Given the description of an element on the screen output the (x, y) to click on. 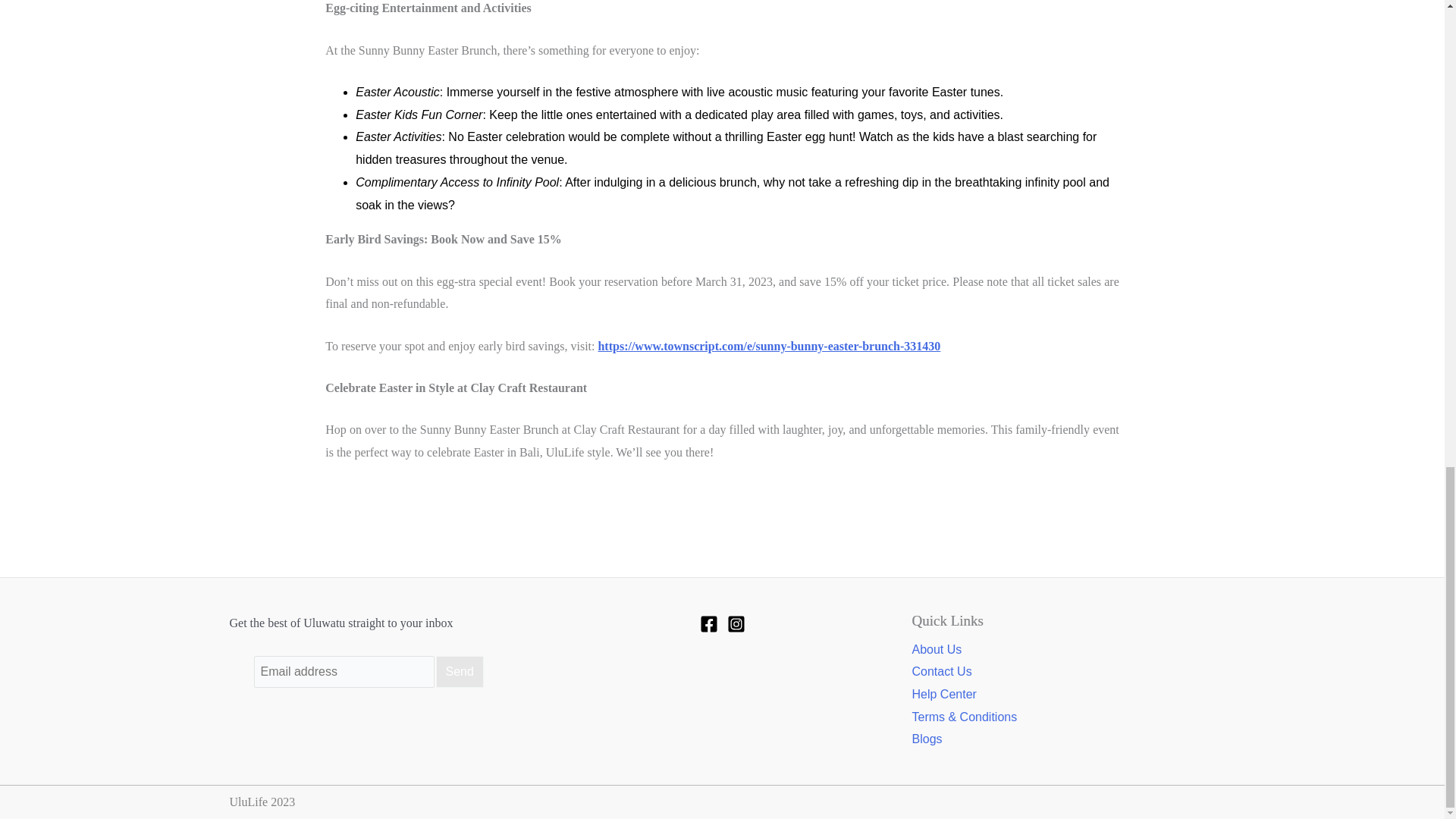
Send (459, 671)
Blogs (926, 738)
Contact Us (941, 671)
Help Center (943, 694)
About Us (935, 649)
